Given the description of an element on the screen output the (x, y) to click on. 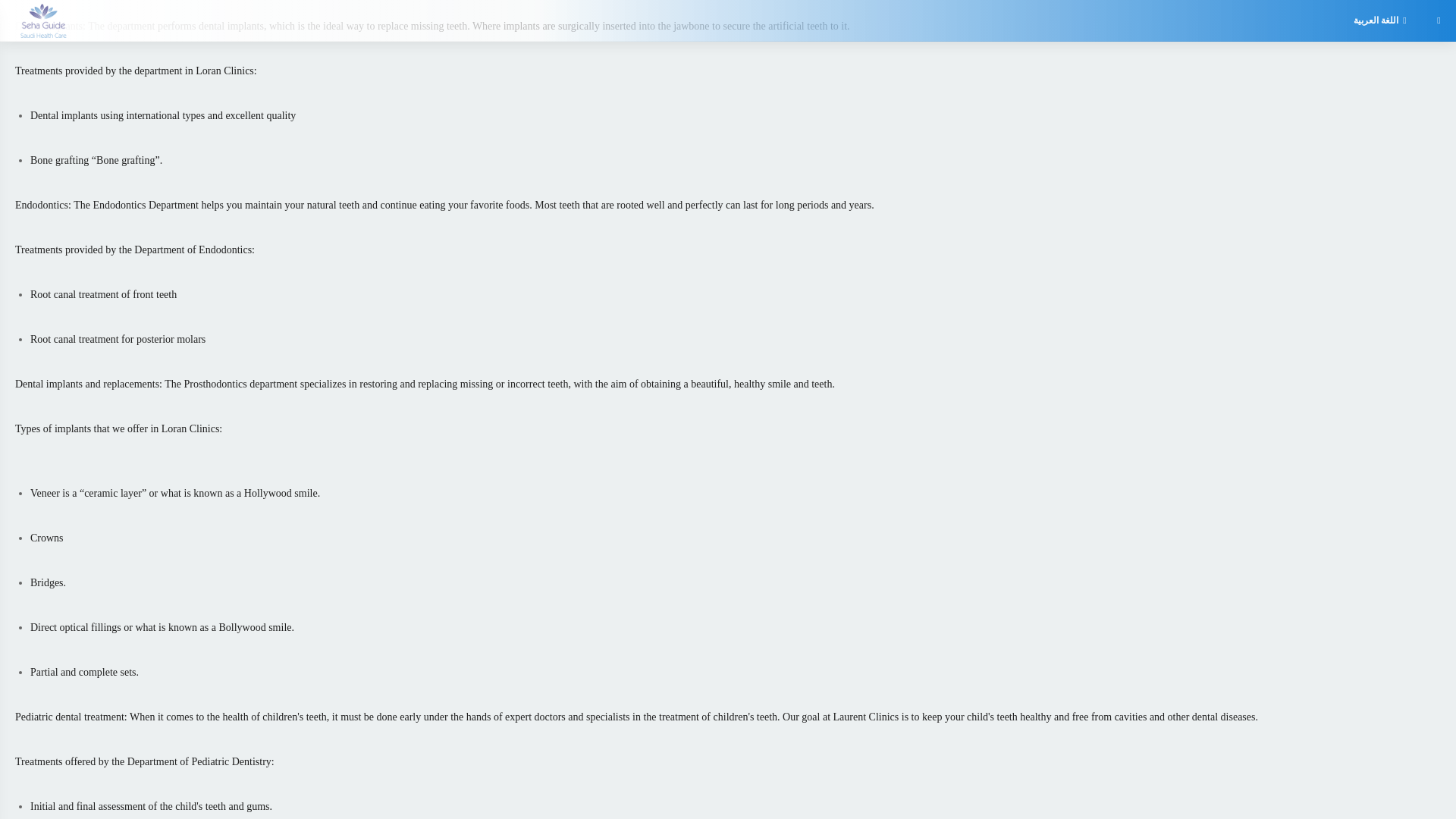
Send Message (727, 345)
WhatsApp (162, 290)
LinkedIn (753, 218)
Twitter (458, 218)
Facebook (162, 218)
Email (1049, 218)
Send Message (727, 345)
Copy Link (458, 290)
Pinterest (753, 290)
Close (1049, 290)
